Given the description of an element on the screen output the (x, y) to click on. 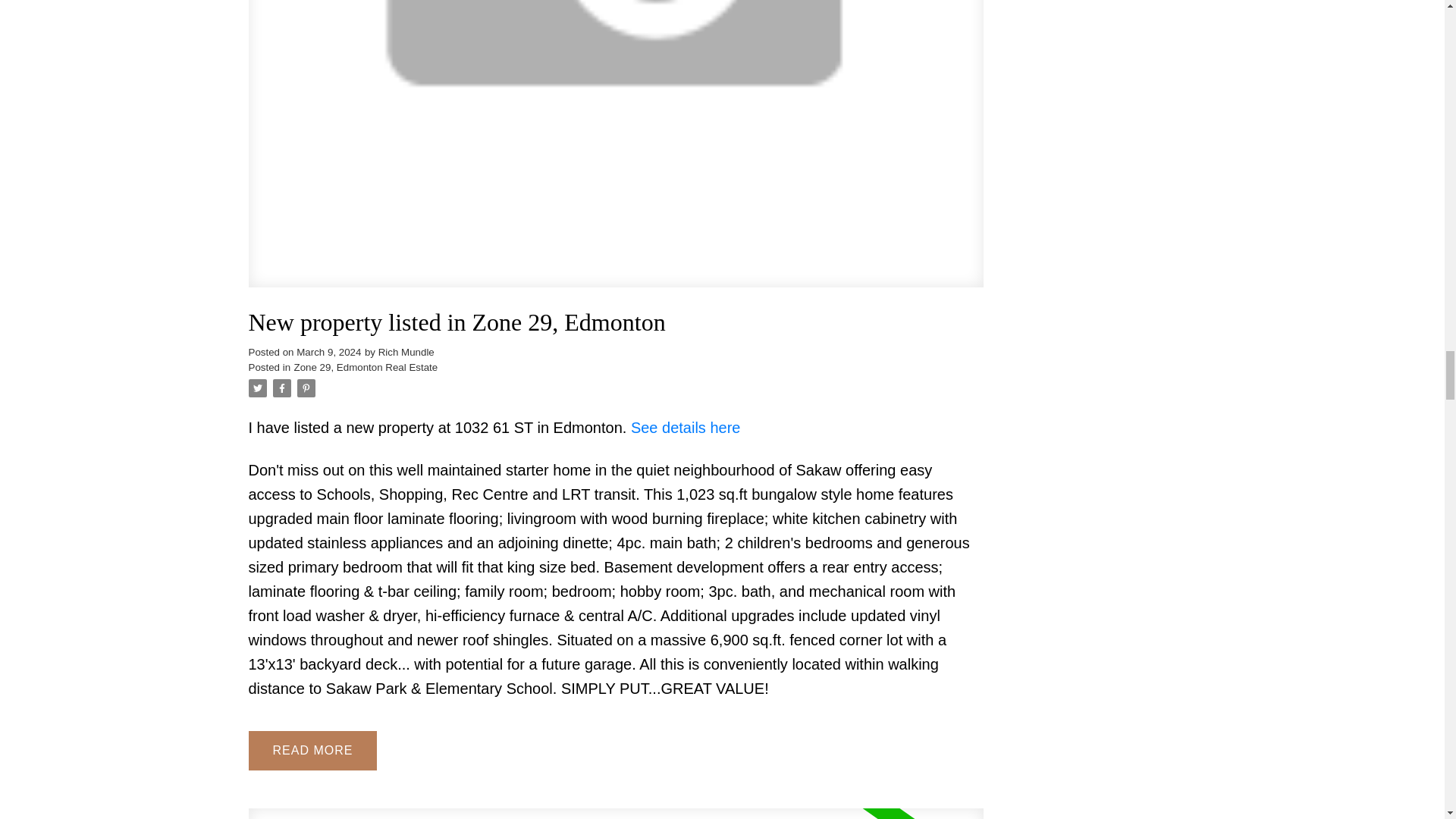
Read full post (616, 813)
